Given the description of an element on the screen output the (x, y) to click on. 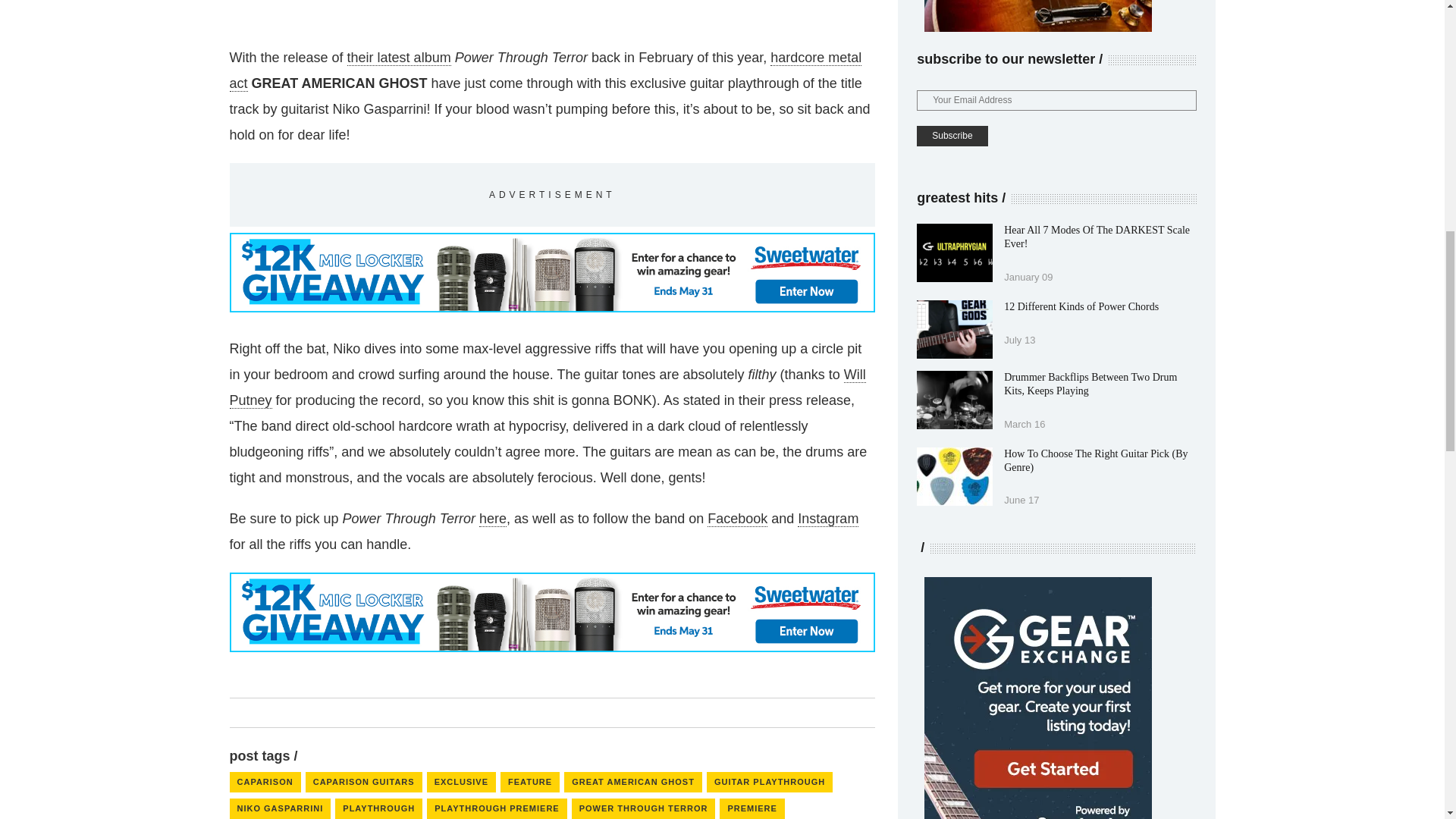
Subscribe (952, 136)
